Given the description of an element on the screen output the (x, y) to click on. 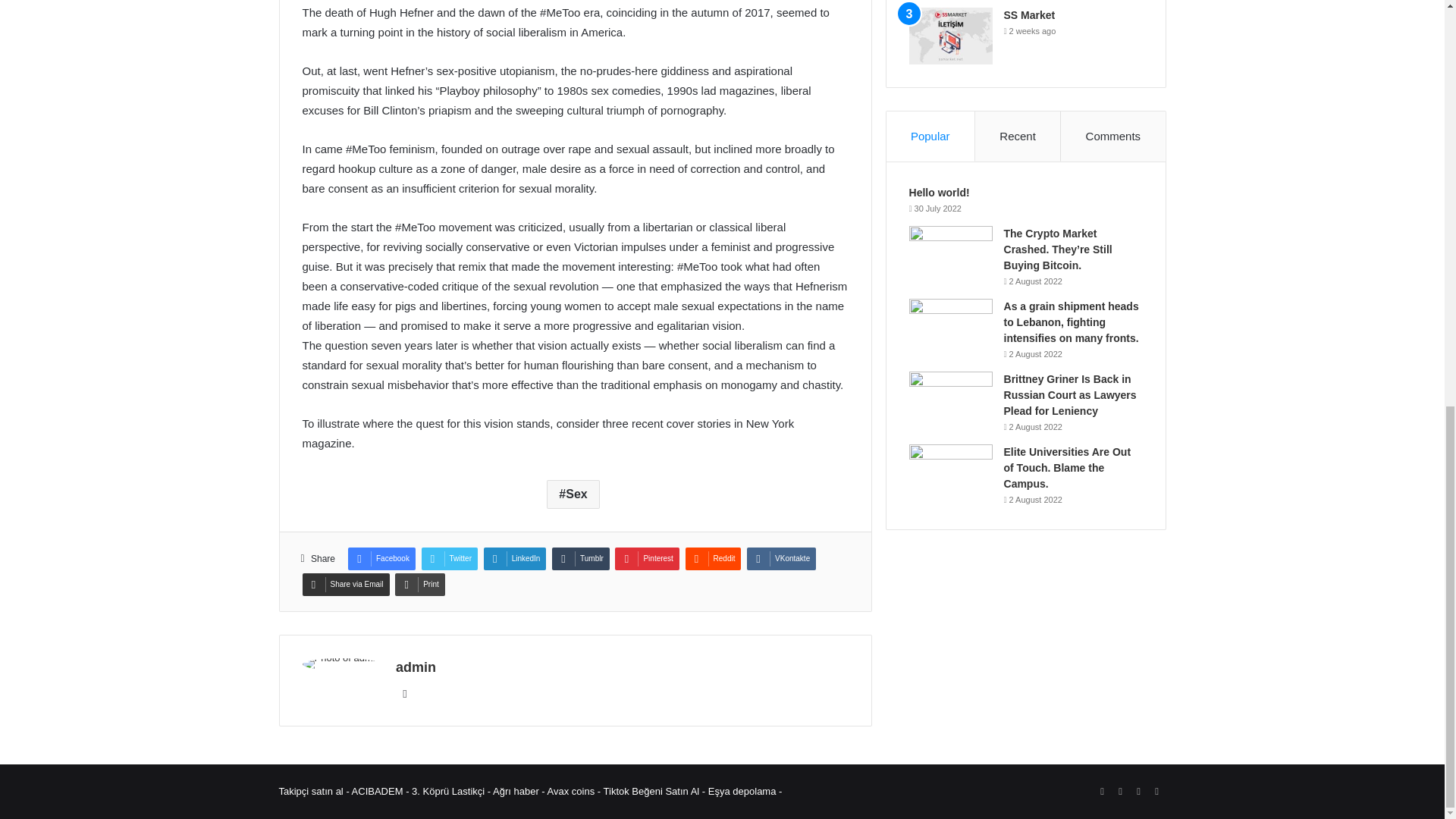
Sex (572, 493)
VKontakte (780, 558)
Reddit (713, 558)
Pinterest (646, 558)
Facebook (380, 558)
Twitter (449, 558)
LinkedIn (515, 558)
Tumblr (580, 558)
